Given the description of an element on the screen output the (x, y) to click on. 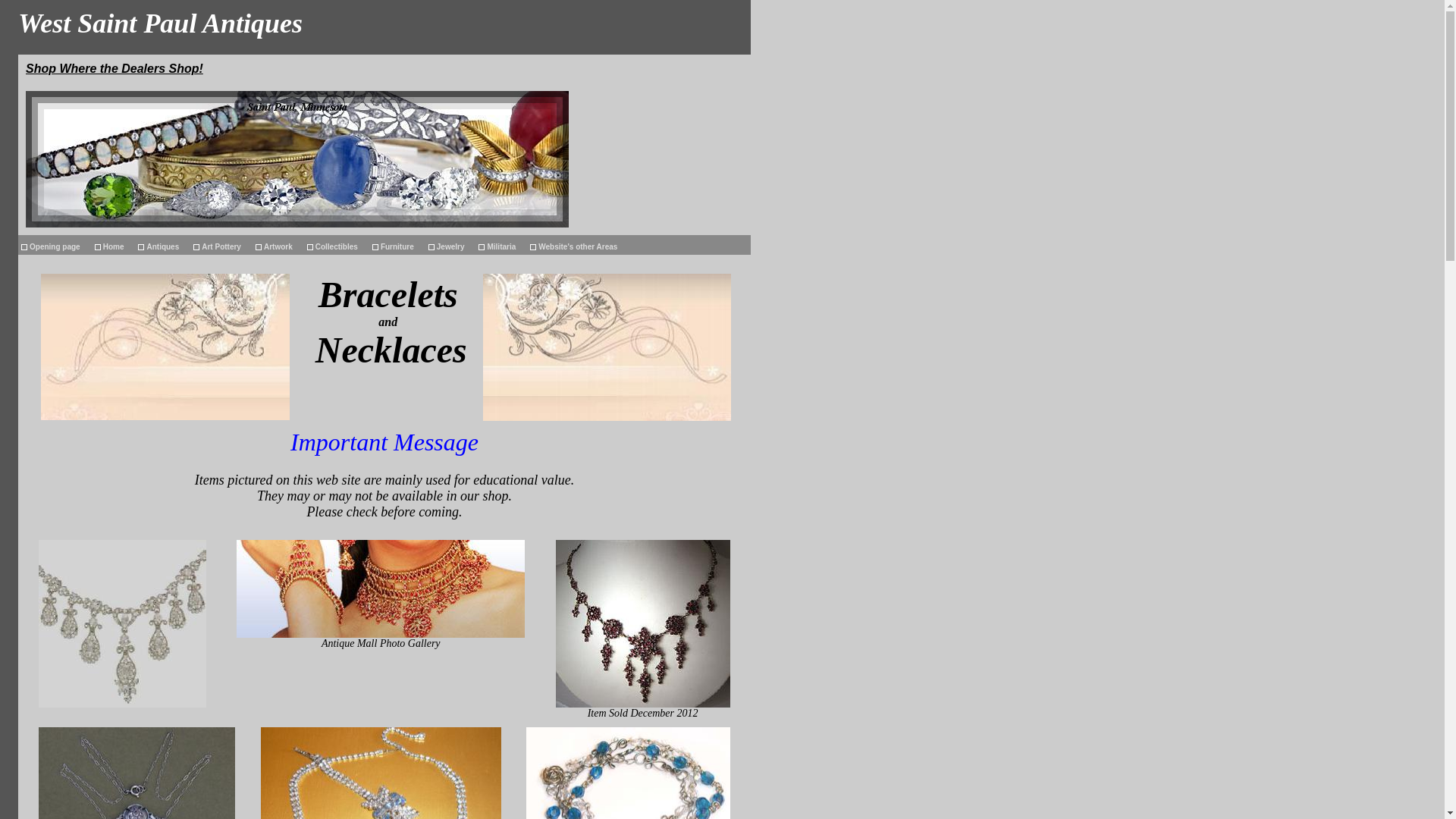
Home (113, 244)
Art Pottery (220, 244)
Antiques (162, 244)
Opening page (54, 244)
